Given the description of an element on the screen output the (x, y) to click on. 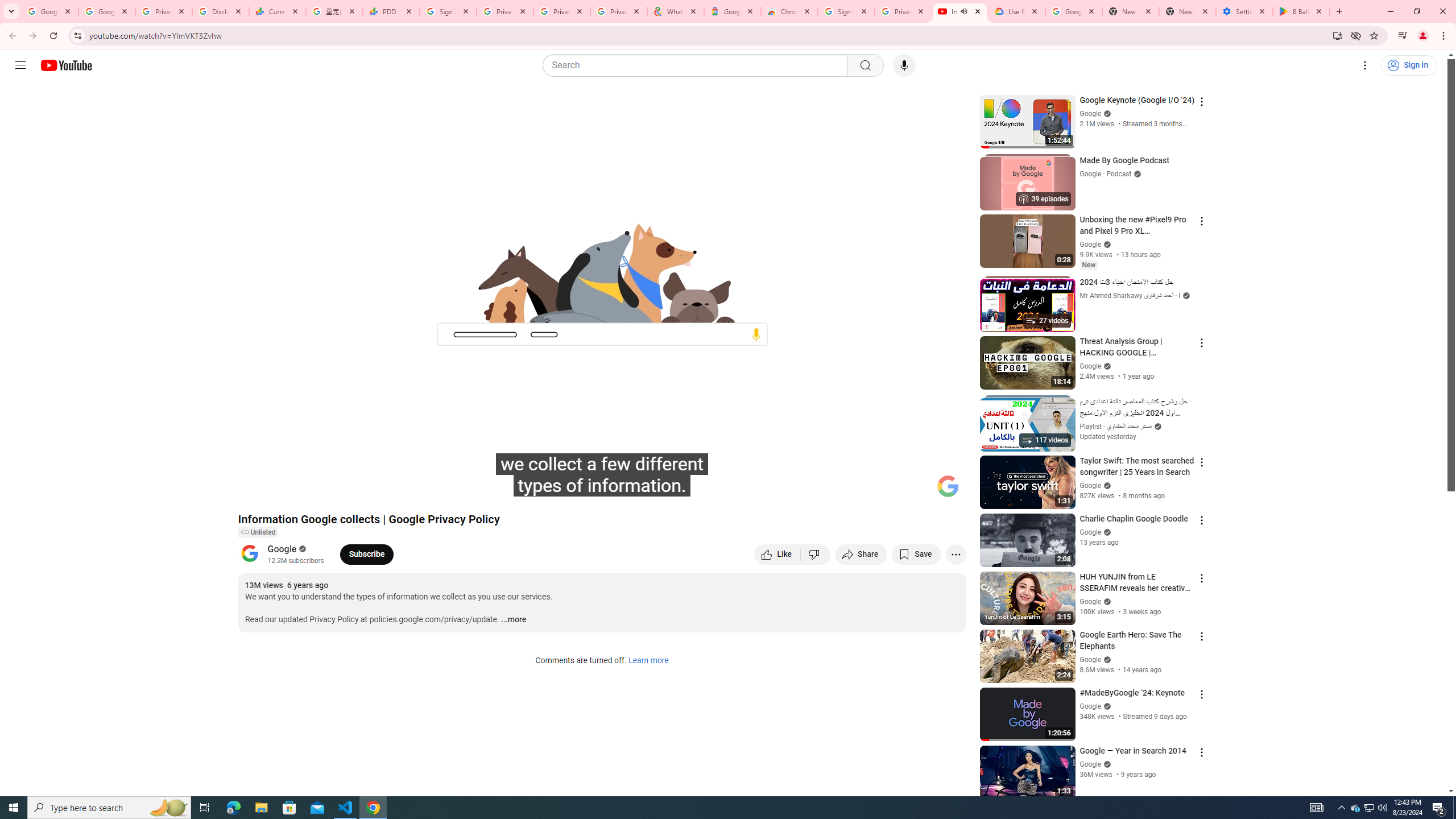
Channel watermark (947, 486)
Privacy Checkup (618, 11)
Settings (1365, 65)
Chrome Web Store - Color themes by Chrome (788, 11)
Share (861, 554)
Google Workspace Admin Community (49, 11)
Learn more (647, 661)
Google (731, 11)
